Given the description of an element on the screen output the (x, y) to click on. 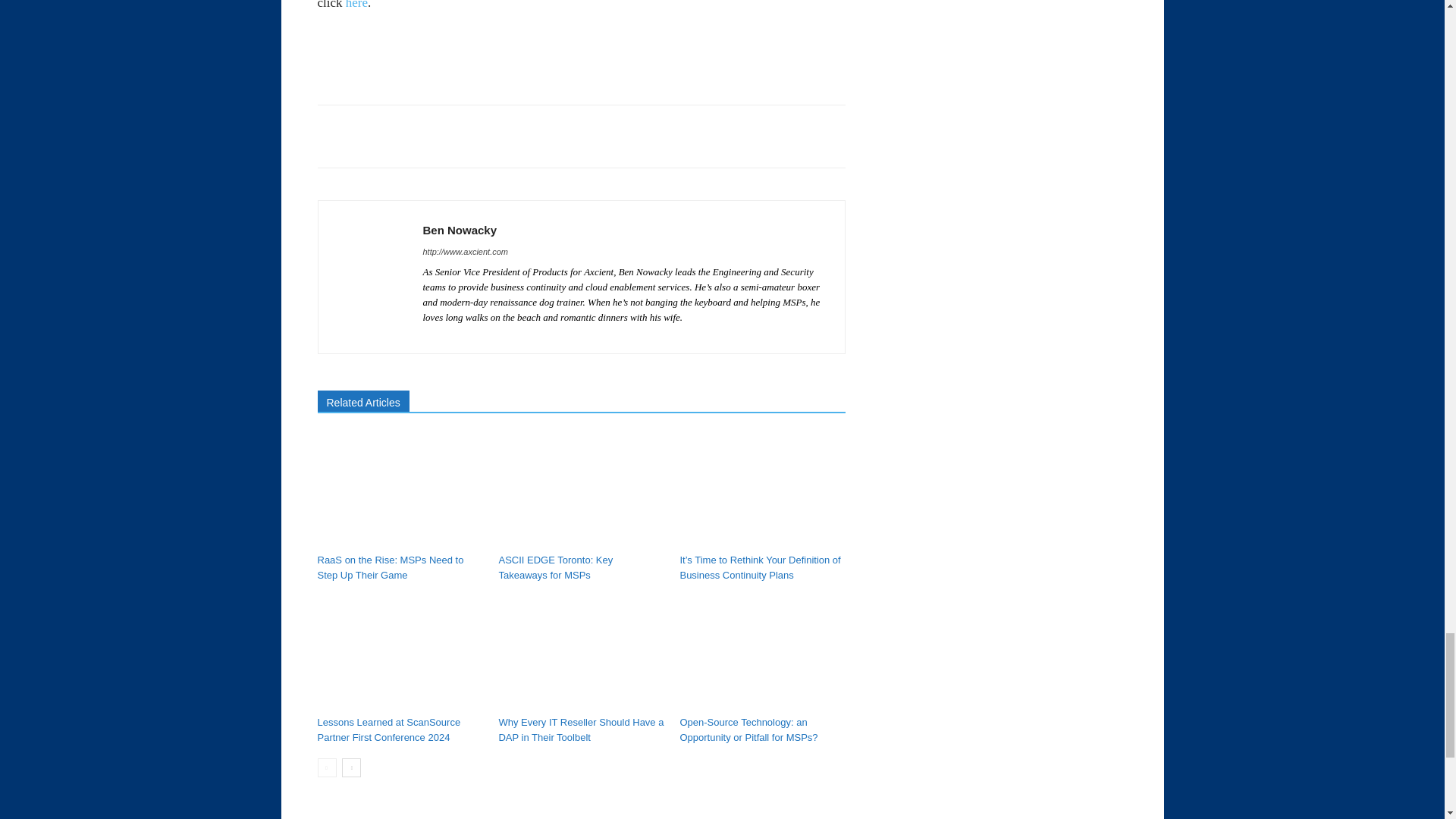
ASCII EDGE Toronto: Key Takeaways for MSPs (554, 567)
ASCII EDGE Toronto: Key Takeaways for MSPs (580, 490)
RaaS on the Rise: MSPs Need to Step Up Their Game (390, 567)
RaaS on the Rise: MSPs Need to Step Up Their Game (399, 490)
